Given the description of an element on the screen output the (x, y) to click on. 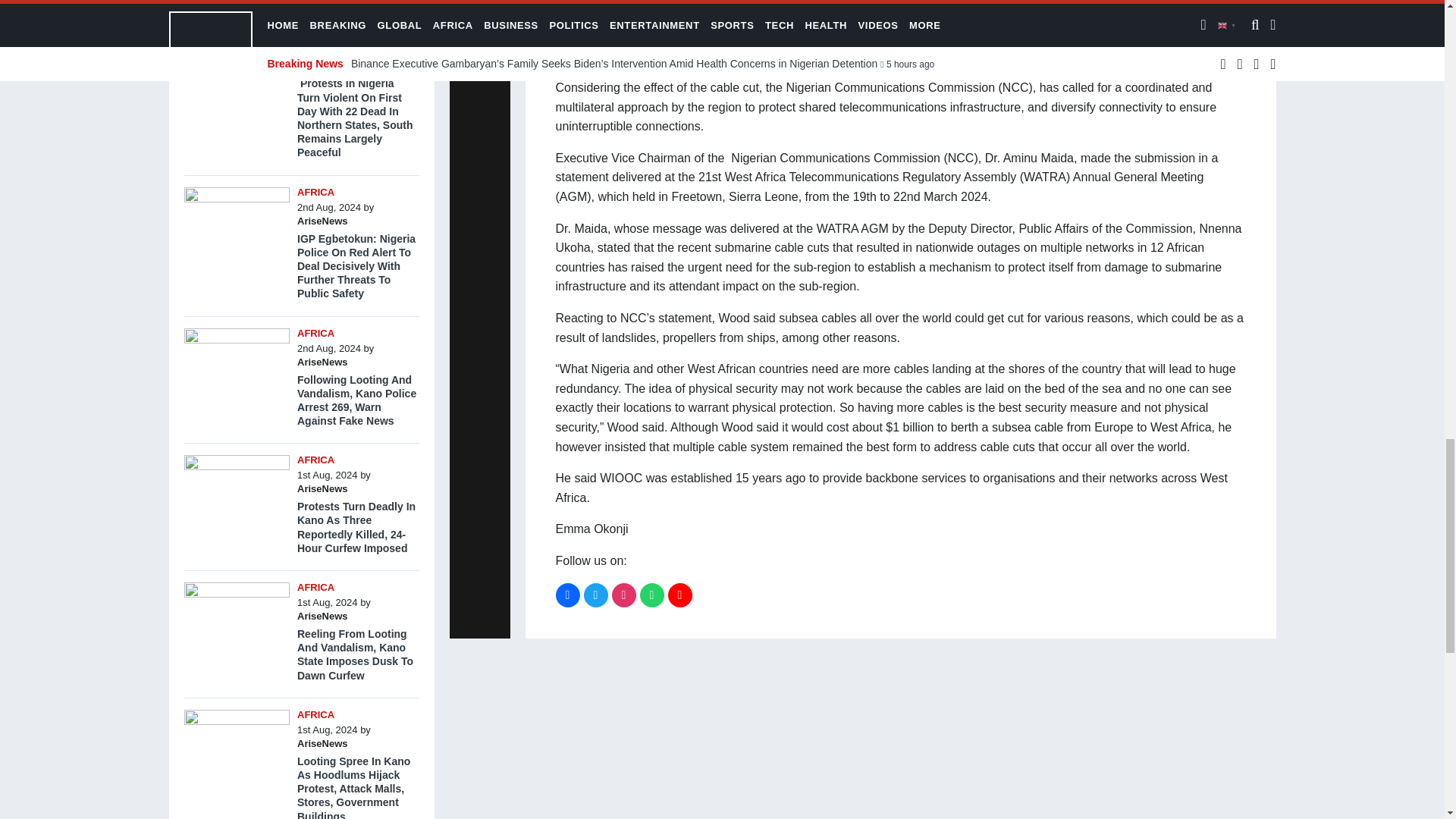
Youtube (678, 595)
Facebook (566, 595)
WhatsApp (651, 595)
Twitter (595, 595)
Instagram (622, 595)
